Given the description of an element on the screen output the (x, y) to click on. 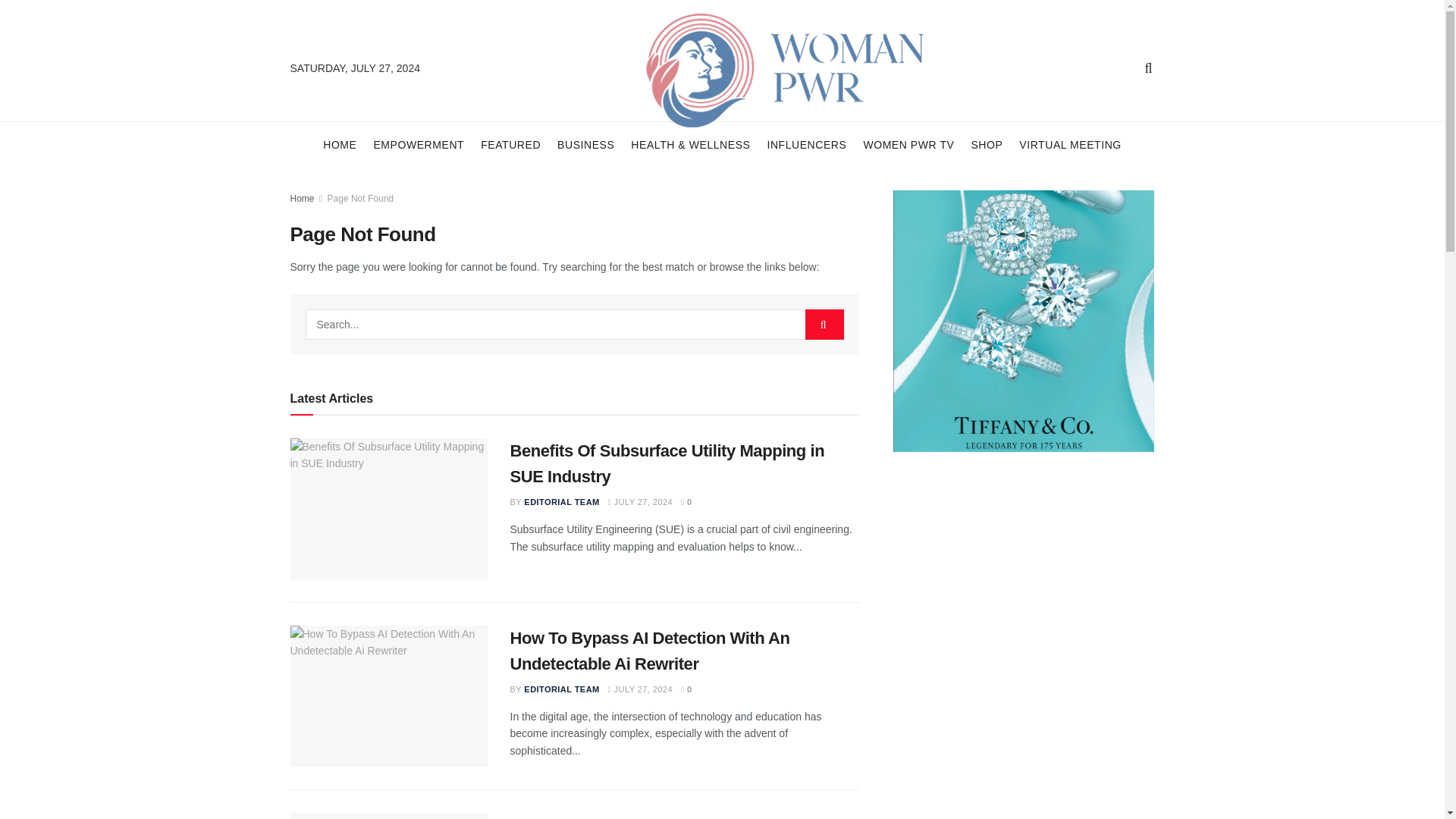
How To Bypass AI Detection With An Undetectable Ai Rewriter (649, 650)
EMPOWERMENT (418, 144)
Home (301, 198)
0 (687, 501)
Benefits Of Subsurface Utility Mapping in SUE Industry (666, 463)
JULY 27, 2024 (640, 501)
INFLUENCERS (806, 144)
EDITORIAL TEAM (561, 501)
Page Not Found (360, 198)
How To Bypass AI Detection With An Undetectable Ai Rewriter (387, 695)
WOMEN PWR TV (908, 144)
Benefits Of Subsurface Utility Mapping in SUE Industry (387, 508)
VIRTUAL MEETING (1070, 144)
BUSINESS (585, 144)
FEATURED (510, 144)
